Given the description of an element on the screen output the (x, y) to click on. 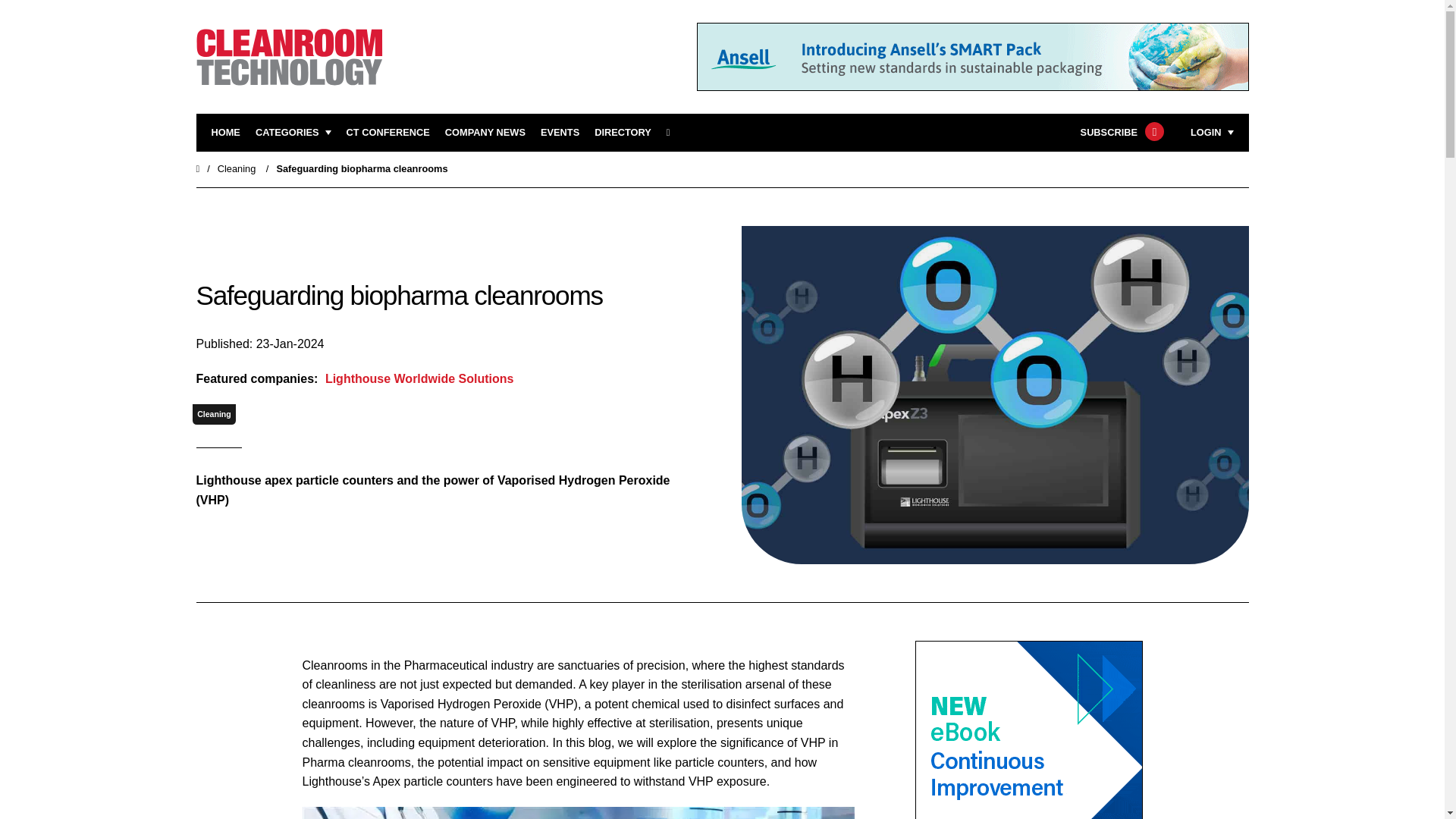
Sign In (1134, 321)
SUBSCRIBE (1120, 133)
HOME (225, 133)
Cleaning (236, 168)
DIRECTORY (622, 133)
Directory (622, 133)
CT CONFERENCE (387, 133)
LOGIN (1212, 133)
Lighthouse Worldwide Solutions (417, 379)
EVENTS (559, 133)
CATEGORIES (293, 133)
Cleaning (213, 414)
COMPANY NEWS (485, 133)
Cleanroom Technology (387, 133)
SEARCH (672, 133)
